Given the description of an element on the screen output the (x, y) to click on. 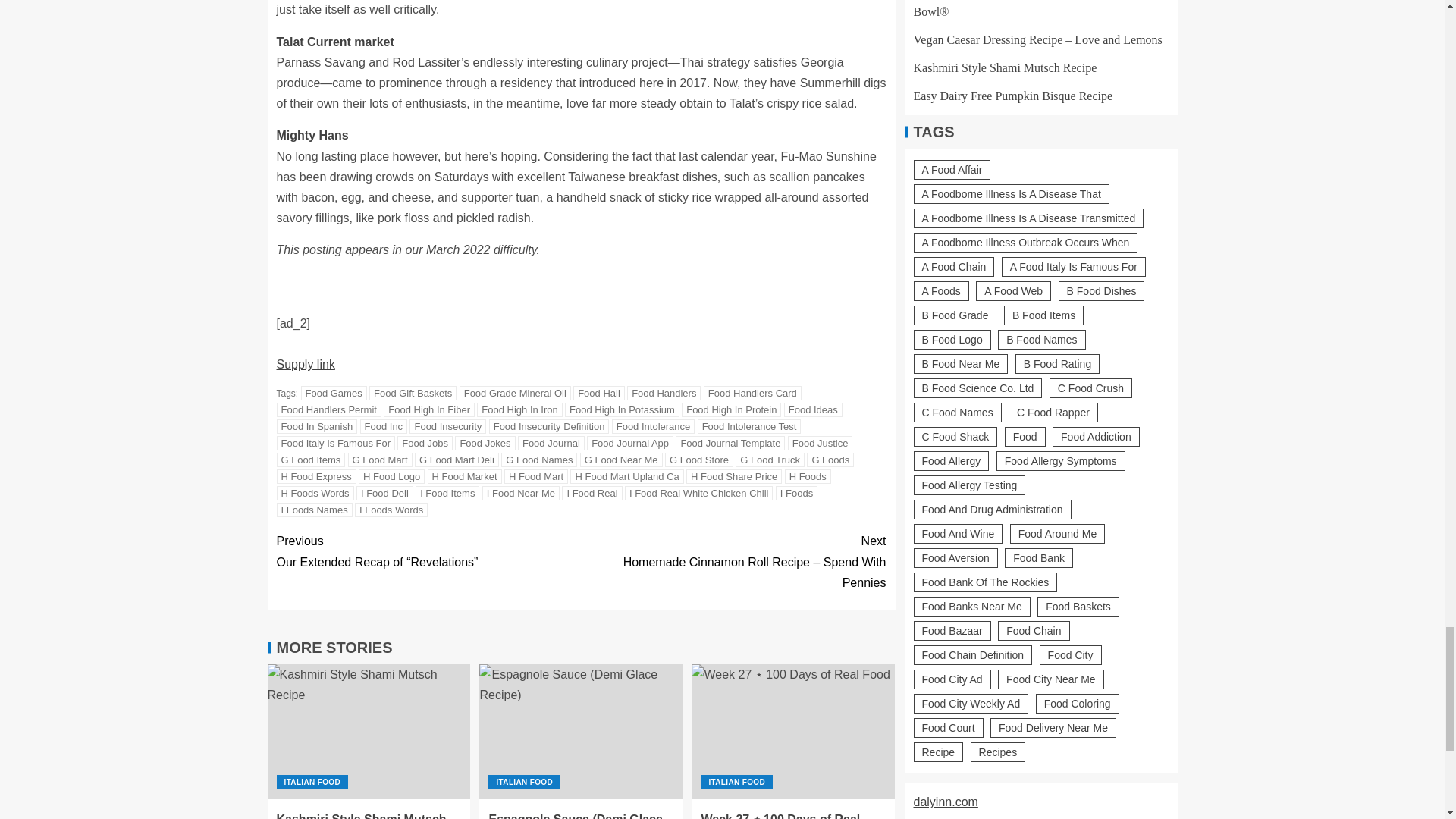
Talat Current market (334, 42)
Mighty Hans (311, 134)
Supply link (305, 364)
Food Games (333, 392)
Kashmiri Style Shami Mutsch Recipe (368, 731)
